Given the description of an element on the screen output the (x, y) to click on. 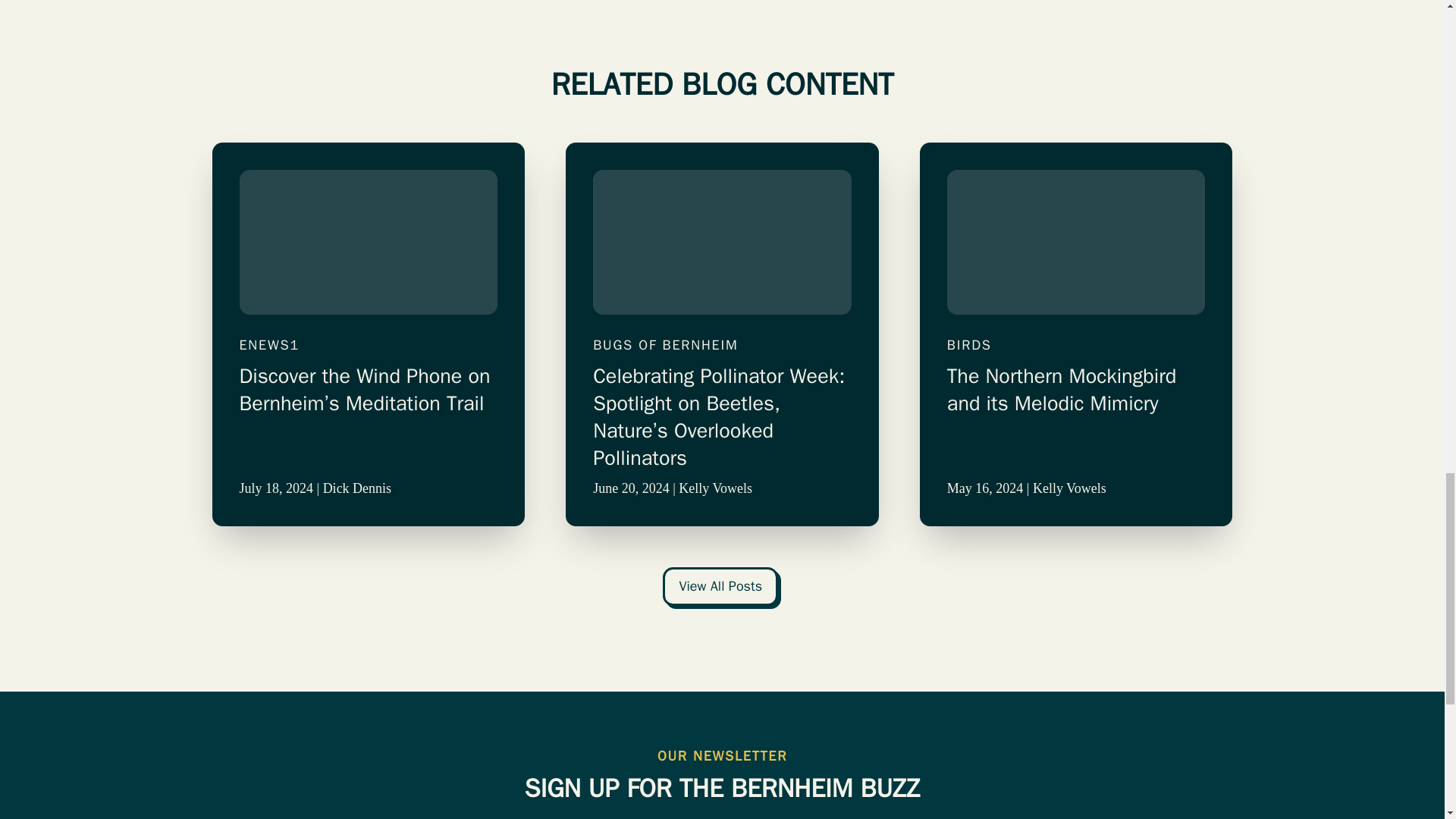
BIRDS (1076, 344)
ENEWS1 (368, 344)
Kelly Vowels (715, 488)
BUGS OF BERNHEIM (721, 344)
The Northern Mockingbird and its Melodic Mimicry (1076, 416)
Dick Dennis (357, 488)
